Given the description of an element on the screen output the (x, y) to click on. 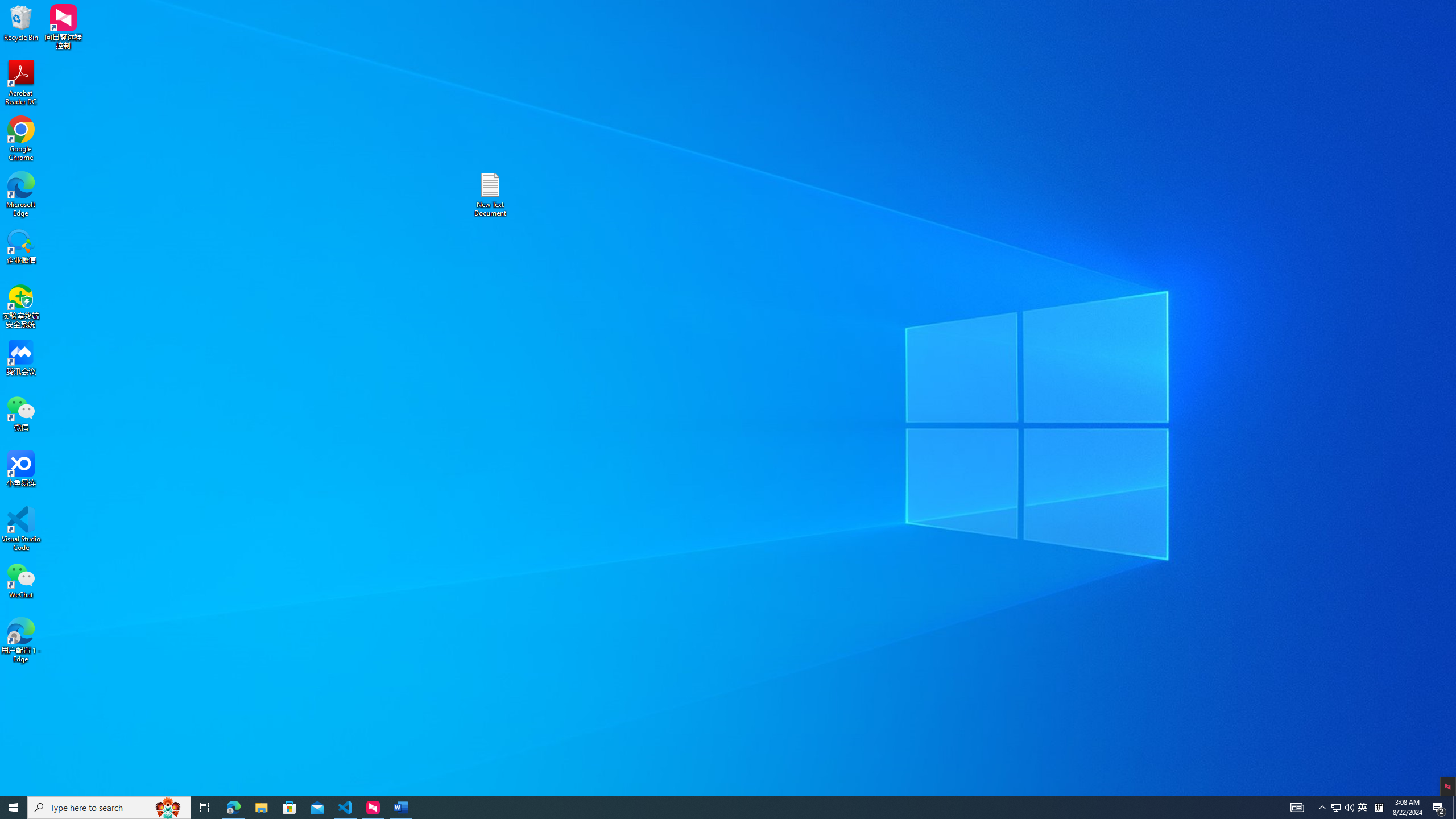
Search highlights icon opens search home window (167, 807)
Repeat Doc Close (117, 9)
Show desktop (1454, 807)
Subtle Reference (973, 56)
AutomationID: QuickStylesGallery (794, 56)
Word - 1 running window (400, 807)
